Given the description of an element on the screen output the (x, y) to click on. 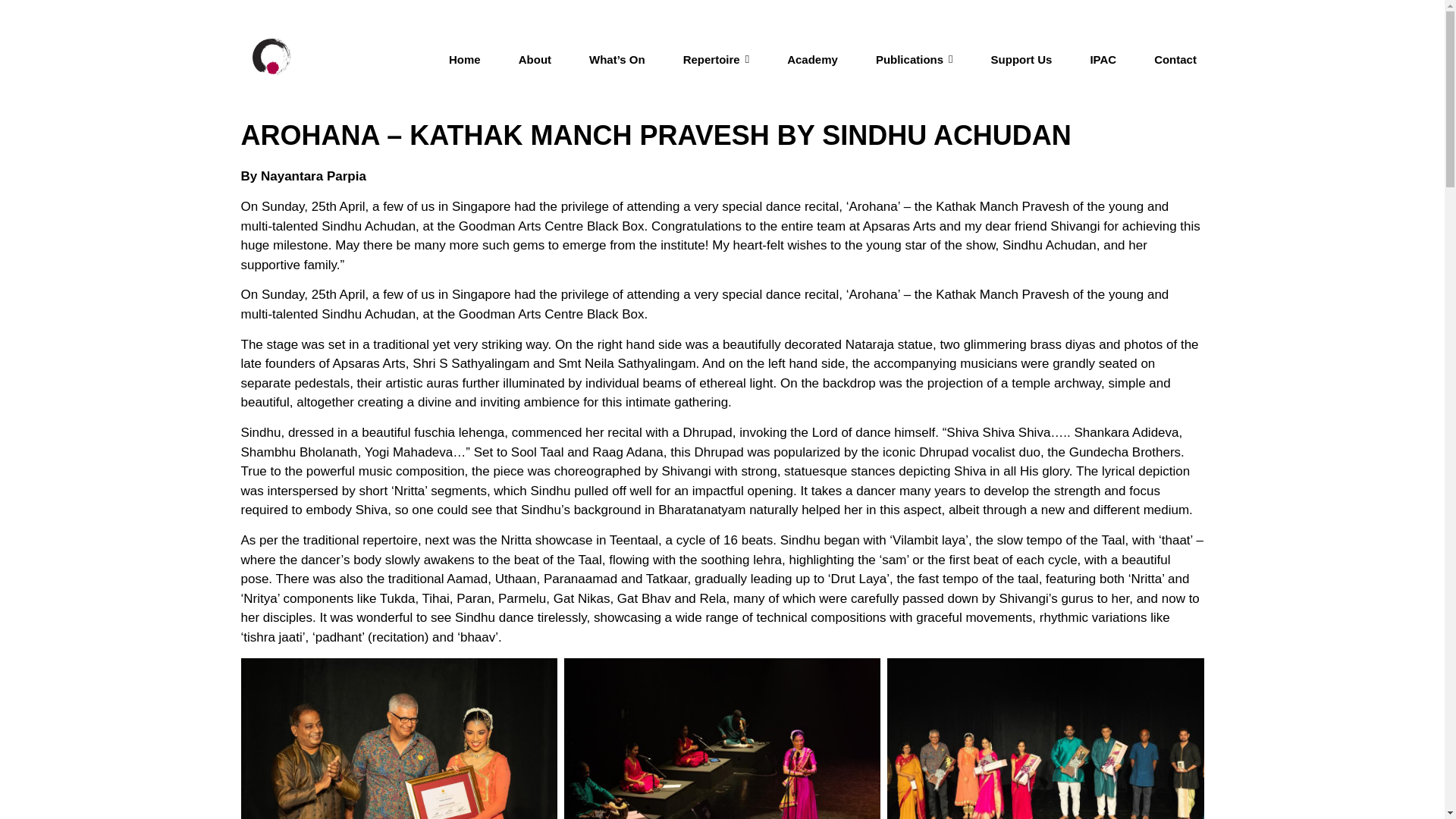
Repertoire (716, 58)
Support Us (1021, 58)
Publications (913, 58)
IPAC (1102, 58)
Home (465, 58)
Contact (1175, 58)
About (534, 58)
Academy (812, 58)
